Given the description of an element on the screen output the (x, y) to click on. 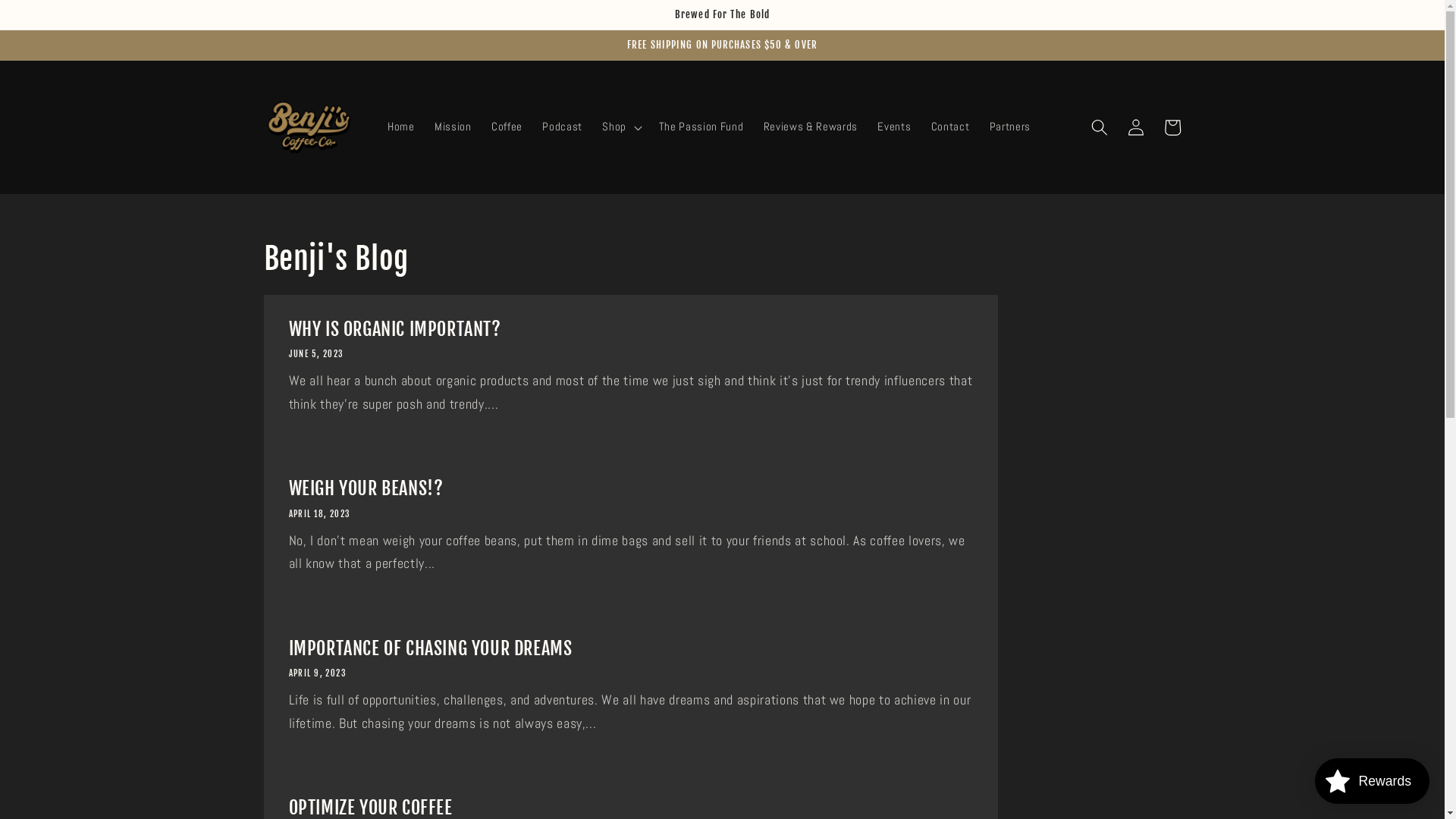
Events Element type: text (893, 126)
Partners Element type: text (1010, 126)
WHY IS ORGANIC IMPORTANT? Element type: text (630, 329)
Mission Element type: text (452, 126)
Log in Element type: text (1135, 127)
Reviews & Rewards Element type: text (810, 126)
Podcast Element type: text (562, 126)
IMPORTANCE OF CHASING YOUR DREAMS Element type: text (630, 648)
Home Element type: text (400, 126)
Cart Element type: text (1172, 127)
The Passion Fund Element type: text (701, 126)
Coffee Element type: text (506, 126)
Contact Element type: text (950, 126)
WEIGH YOUR BEANS!? Element type: text (630, 488)
